Given the description of an element on the screen output the (x, y) to click on. 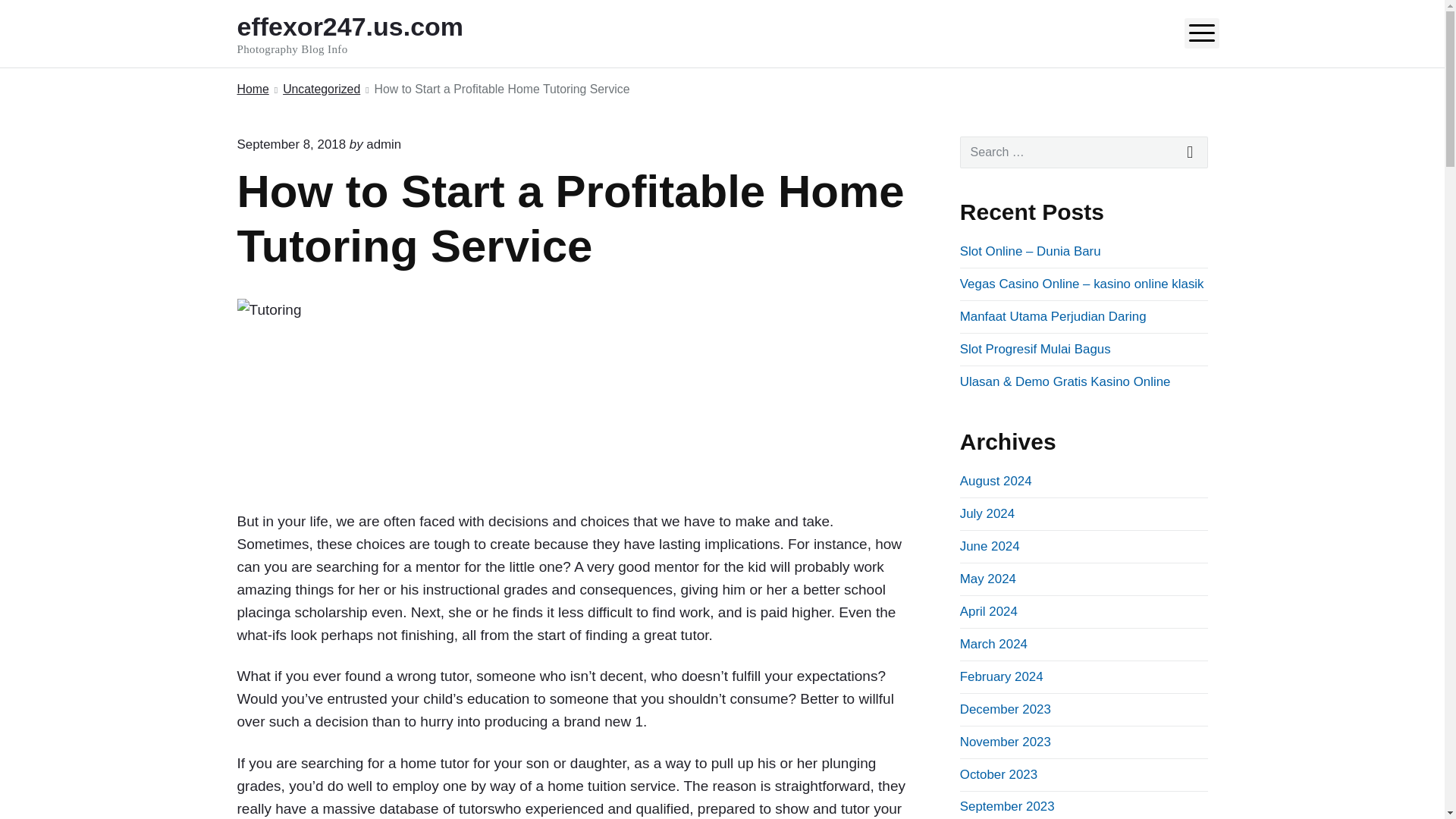
Slot Progresif Mulai Bagus (1034, 349)
November 2023 (1005, 741)
August 2024 (995, 481)
Search for: (1083, 152)
admin (383, 144)
Menu (1202, 33)
May 2024 (987, 578)
Uncategorized (320, 89)
September 2023 (370, 33)
